Given the description of an element on the screen output the (x, y) to click on. 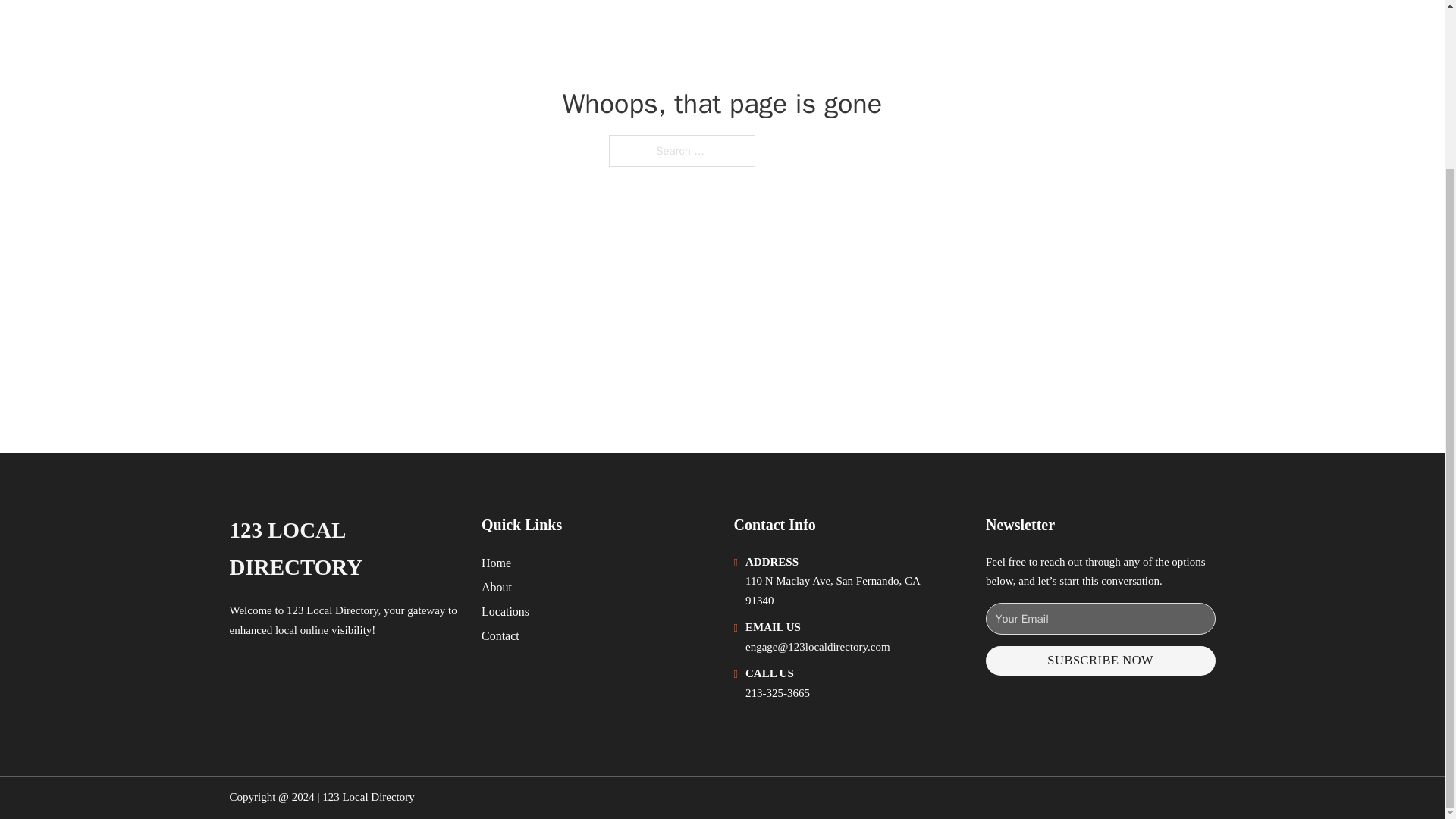
123 LOCAL DIRECTORY (343, 549)
About (496, 587)
213-325-3665 (777, 693)
Locations (505, 611)
Home (496, 562)
Contact (500, 635)
SUBSCRIBE NOW (1100, 660)
